Given the description of an element on the screen output the (x, y) to click on. 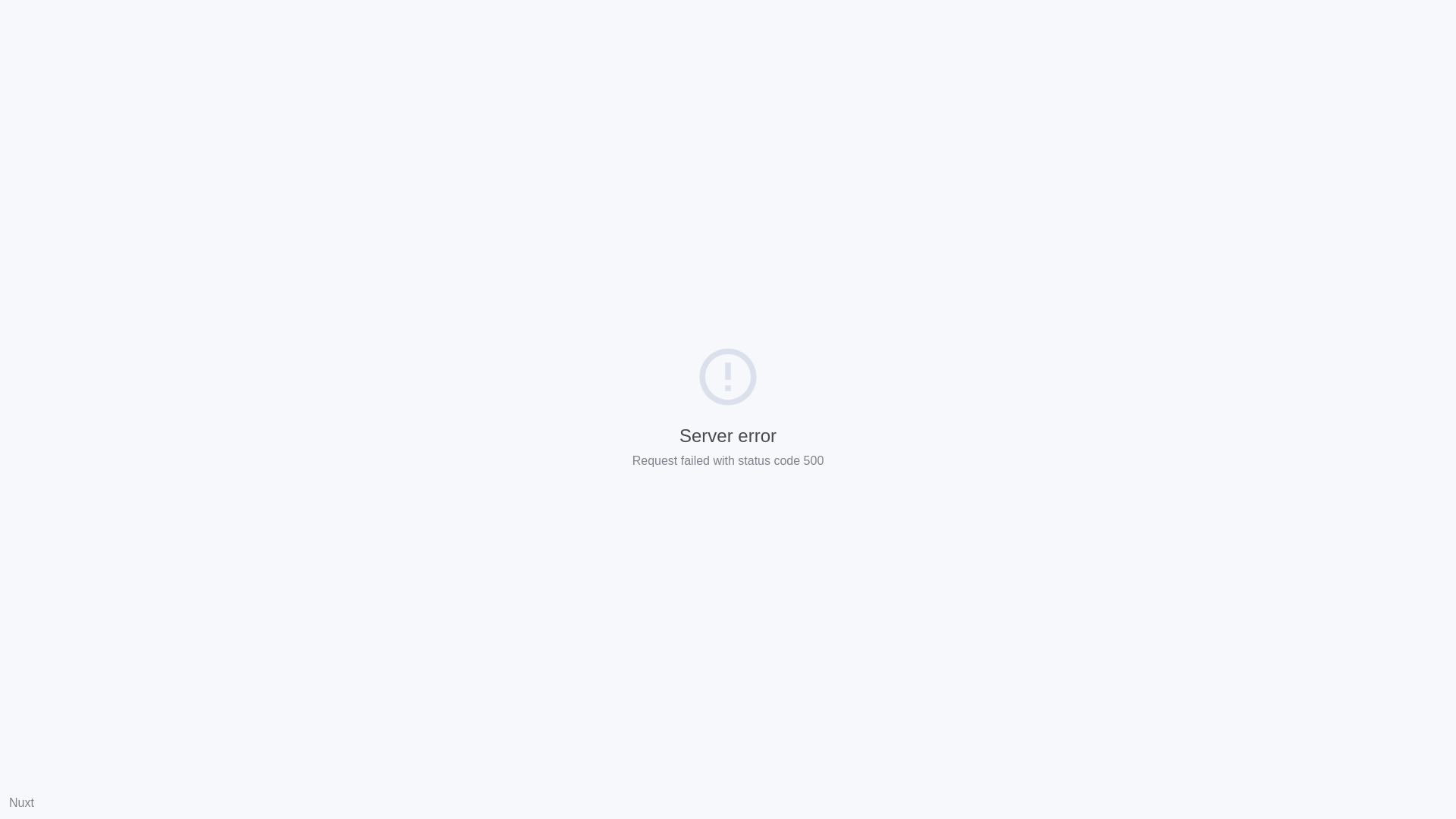
Nuxt Element type: text (21, 802)
